Given the description of an element on the screen output the (x, y) to click on. 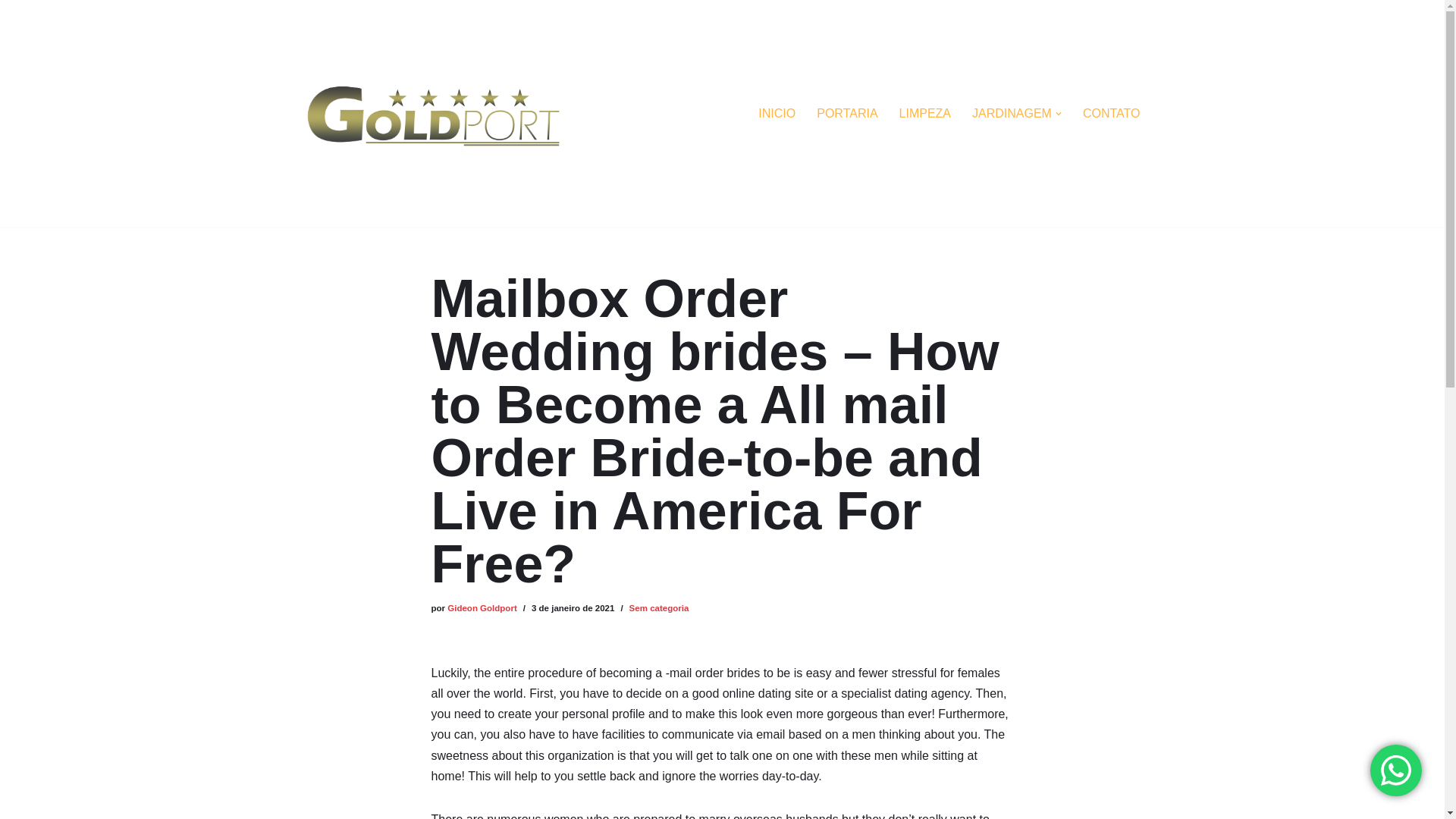
JARDINAGEM (1011, 113)
Posts de Gideon Goldport (481, 607)
INICIO (776, 113)
Sem categoria (658, 607)
Gideon Goldport (481, 607)
CONTATO (1111, 113)
PORTARIA (846, 113)
LIMPEZA (924, 113)
